Given the description of an element on the screen output the (x, y) to click on. 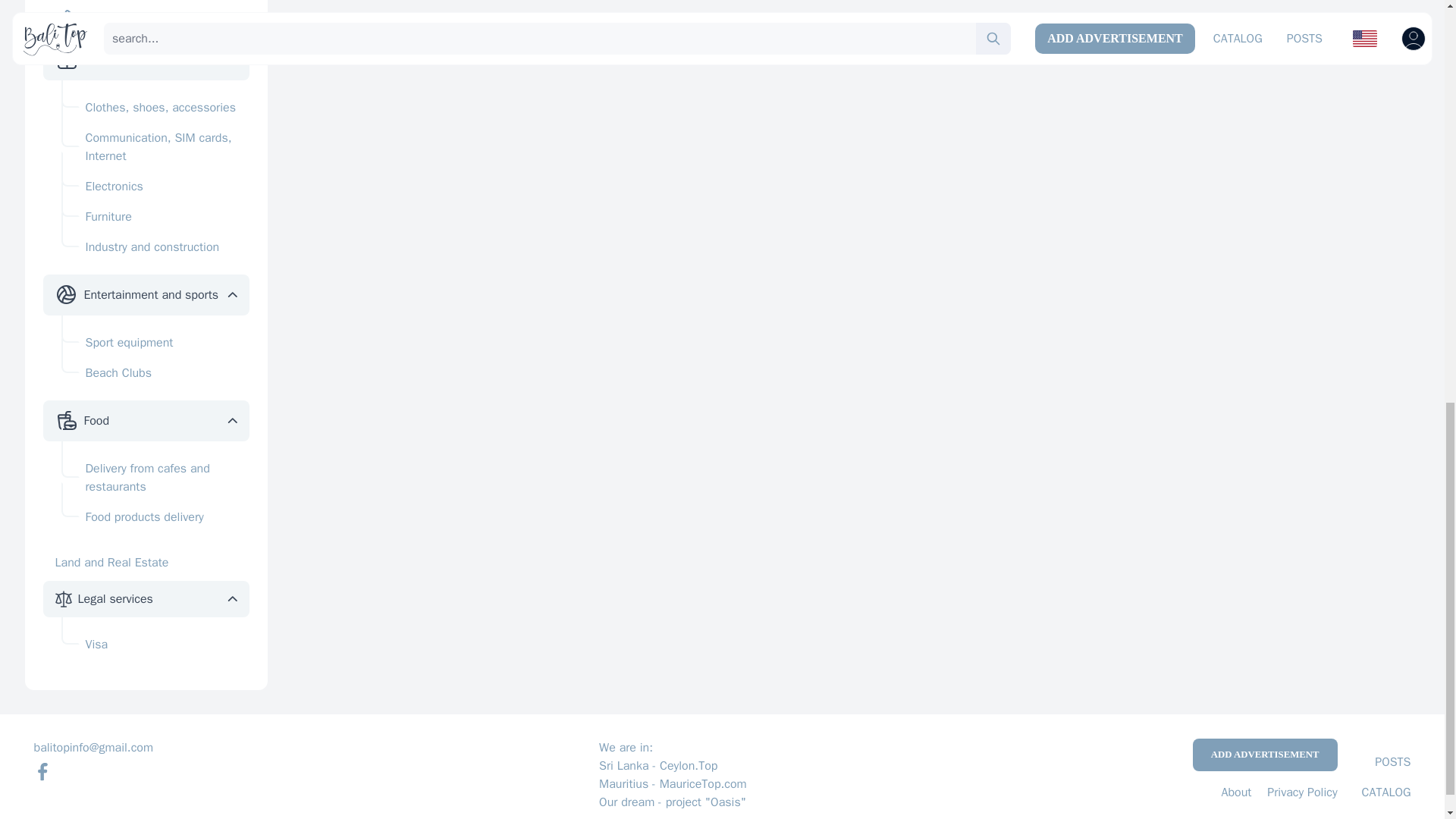
Entertainment and sports (150, 294)
Clothes, shoes, accessories (154, 107)
Electronics (154, 186)
Communication, SIM cards, Internet (154, 146)
Industry and construction (154, 246)
Travel, Tours, Excursions (148, 18)
Furniture (154, 216)
Sport equipment (154, 342)
Products (105, 59)
